Given the description of an element on the screen output the (x, y) to click on. 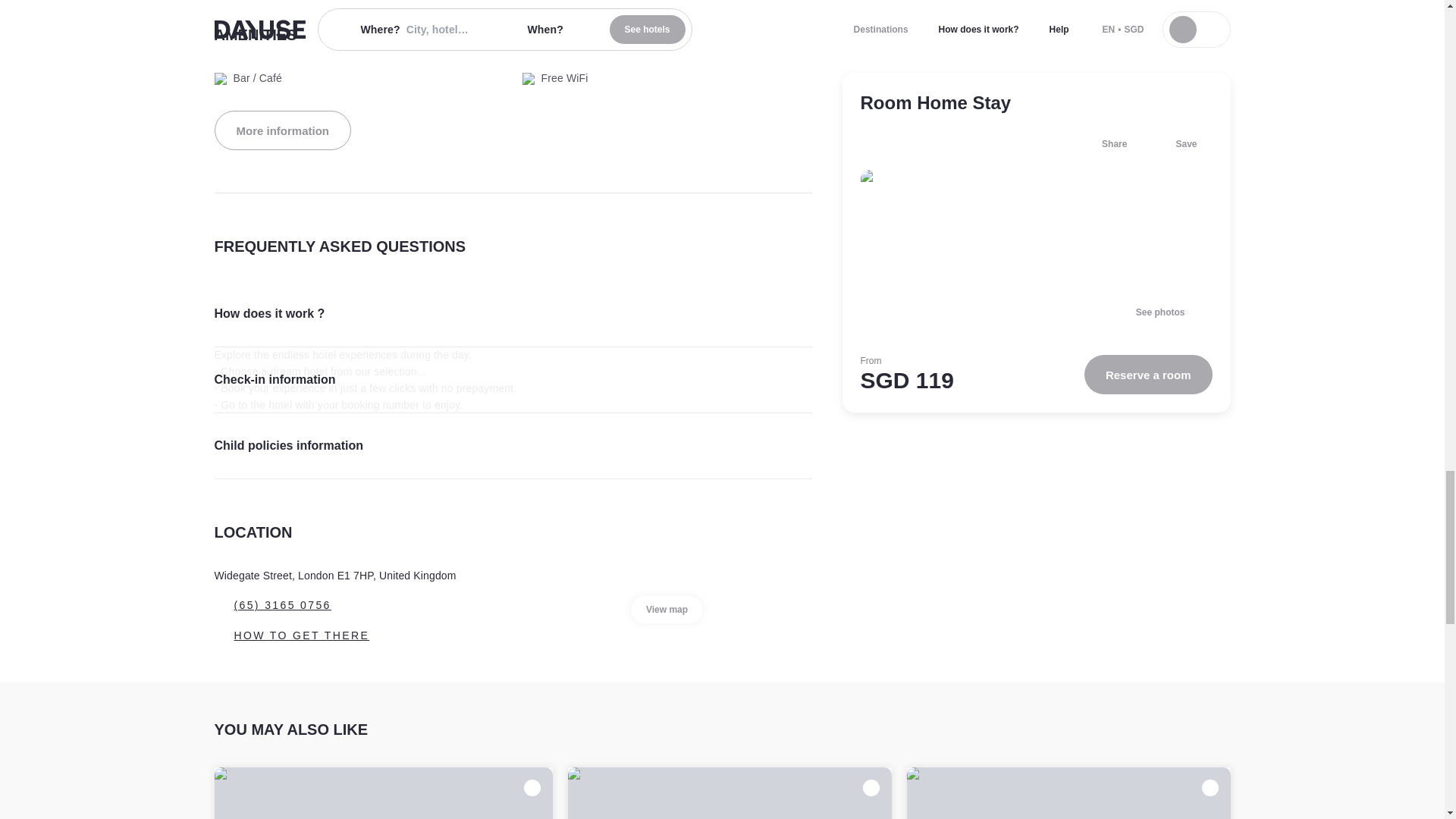
Check-in information (512, 379)
How does it work ? (512, 313)
More information (282, 129)
Andaz Liverpool Street Hotel - a Concept by Hyatt (729, 793)
ibis London City - Shoreditch (1068, 793)
196 Bishopsgate (383, 793)
